Given the description of an element on the screen output the (x, y) to click on. 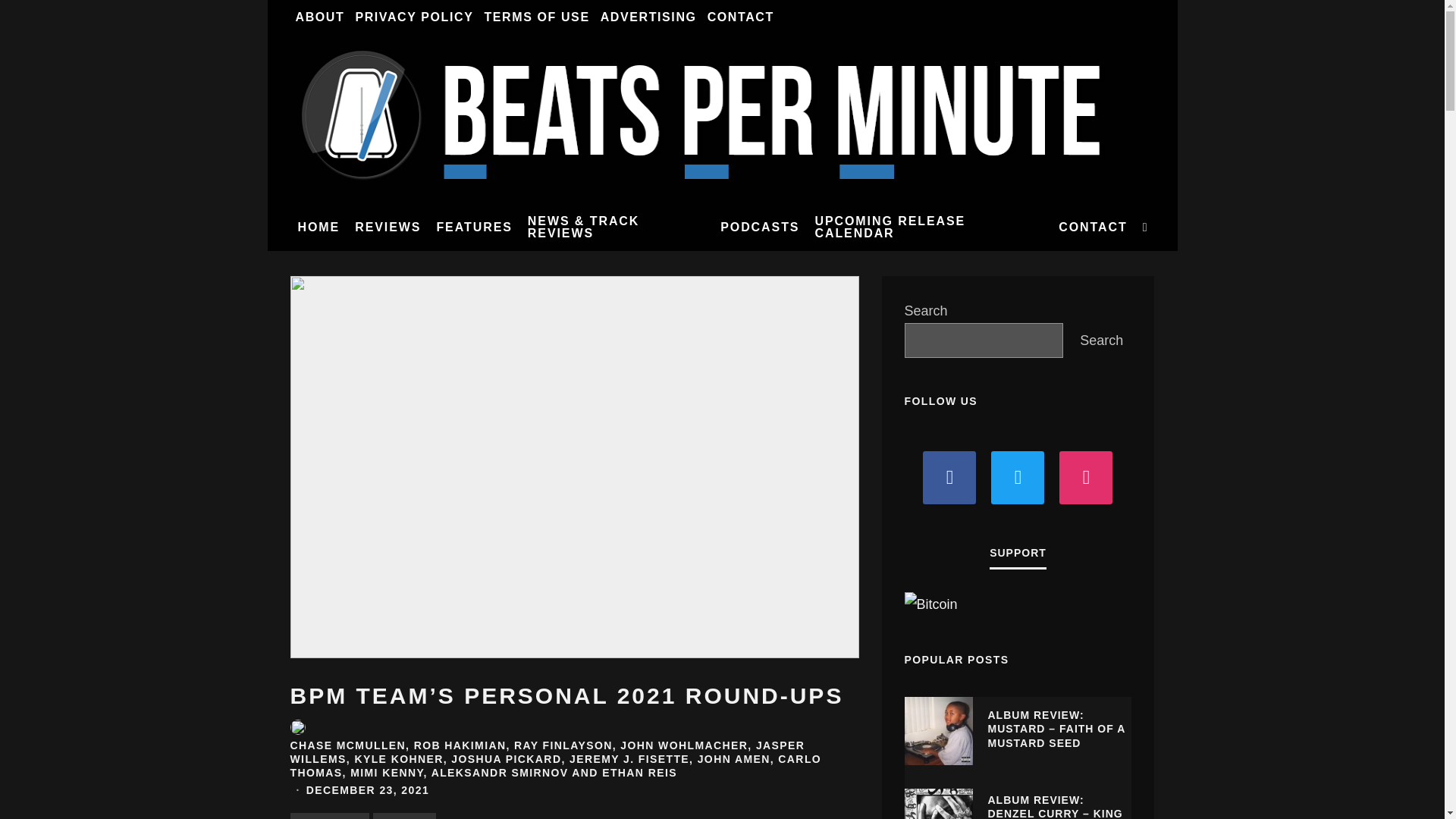
View all posts by Ray Finlayson (562, 745)
FEATURES (473, 226)
View all posts by Joshua Pickard (505, 758)
CONTACT (739, 17)
View all posts by John Wohlmacher (684, 745)
HOME (318, 226)
View all posts by Ethan Reis (639, 772)
View all posts by Chase McMullen (347, 745)
View all posts by John Amen (733, 758)
ADVERTISING (648, 17)
REVIEWS (387, 226)
ABOUT (319, 17)
View all posts by Kyle Kohner (397, 758)
View all posts by Jasper WIllems (547, 751)
View all posts by Aleksandr Smirnov (499, 772)
